Given the description of an element on the screen output the (x, y) to click on. 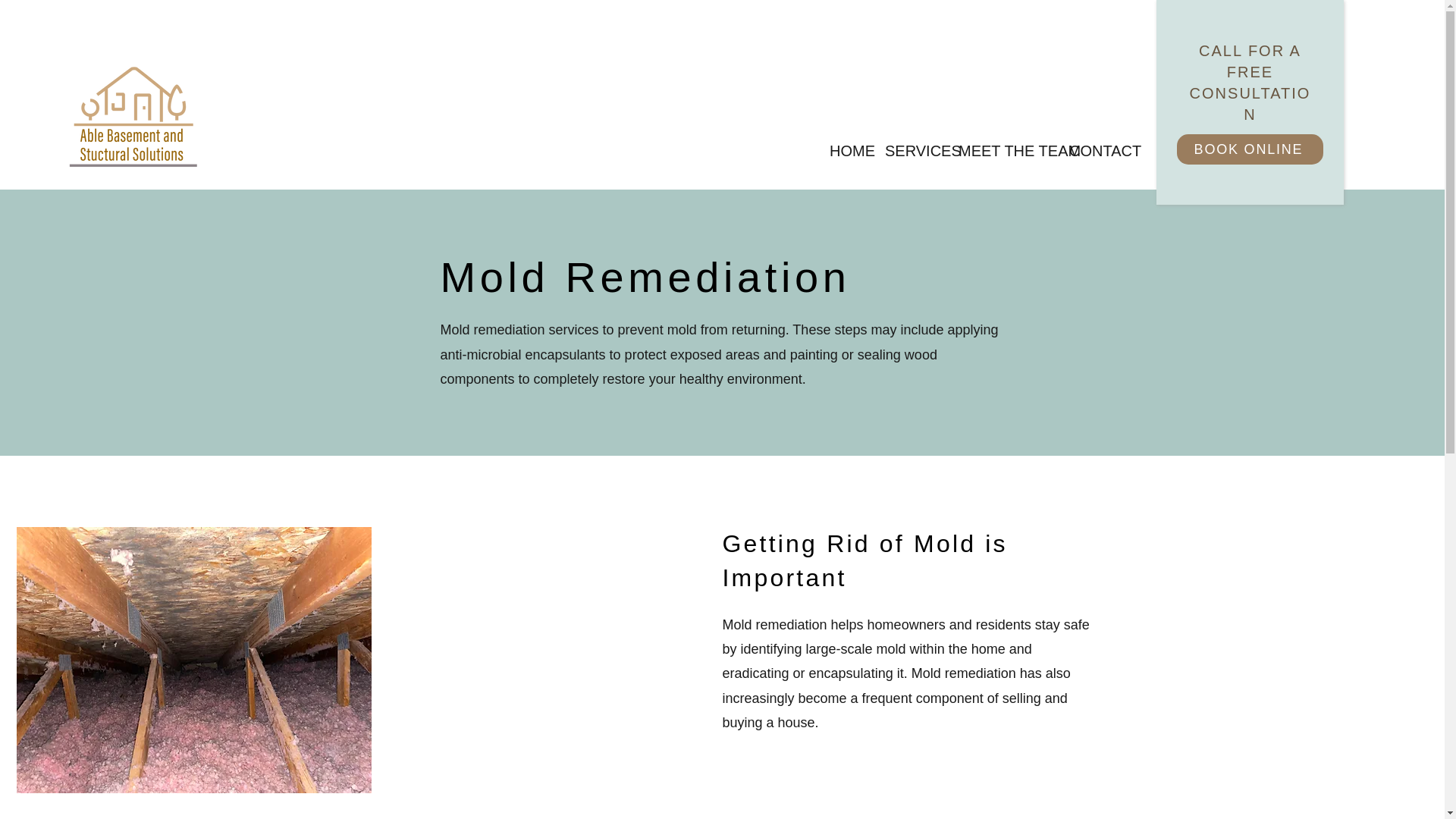
MEET THE TEAM (1002, 149)
Able Basement and Structural Solutions logo (133, 115)
BOOK ONLINE (1249, 149)
HOME (845, 149)
CONTACT (1093, 149)
